Given the description of an element on the screen output the (x, y) to click on. 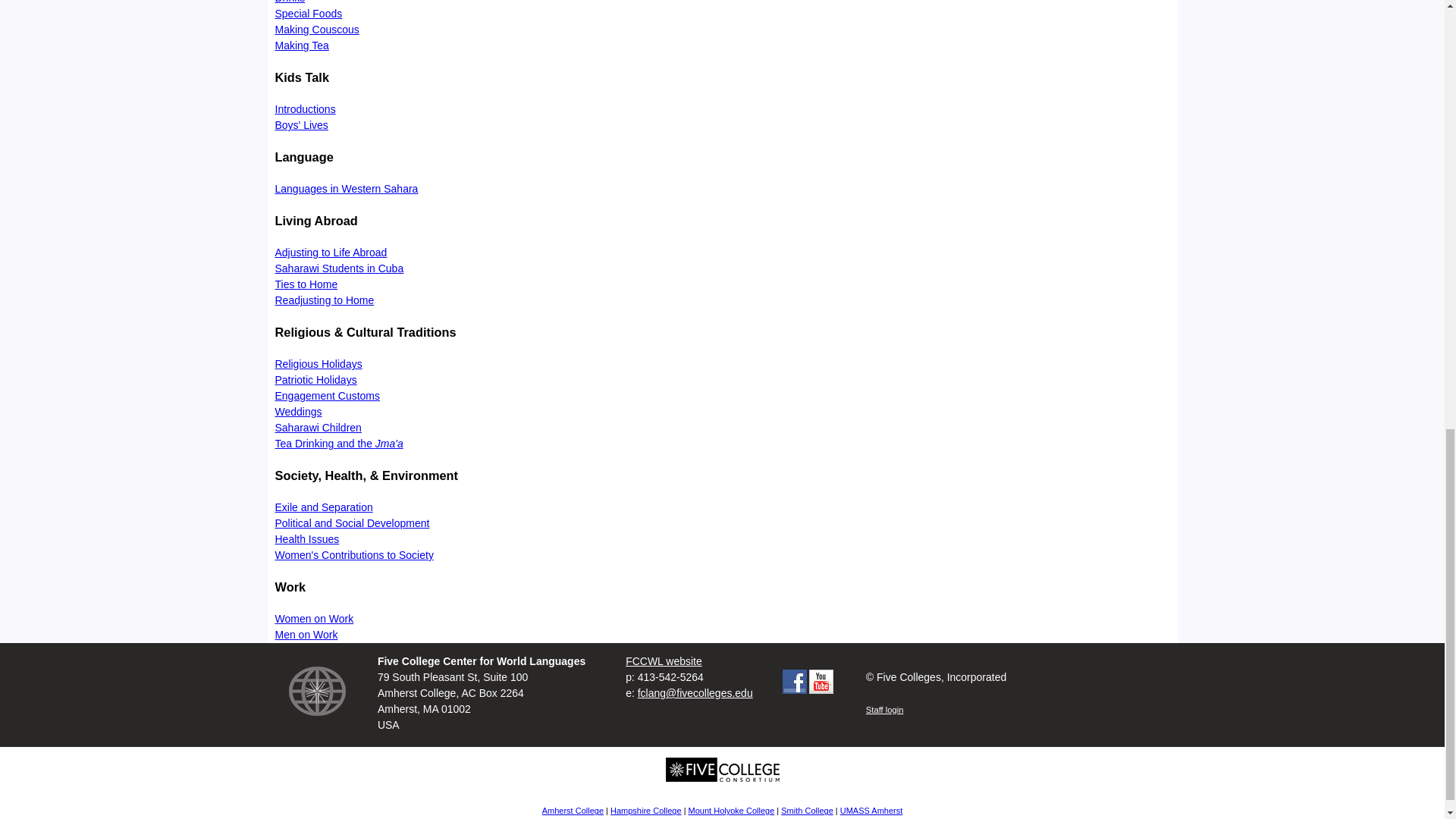
Special Foods (308, 13)
Introductions (304, 109)
Making Couscous (316, 29)
Drinks (289, 2)
Boys' Lives (301, 124)
Youtube (820, 681)
Making Tea (302, 45)
Facebook (794, 681)
